Given the description of an element on the screen output the (x, y) to click on. 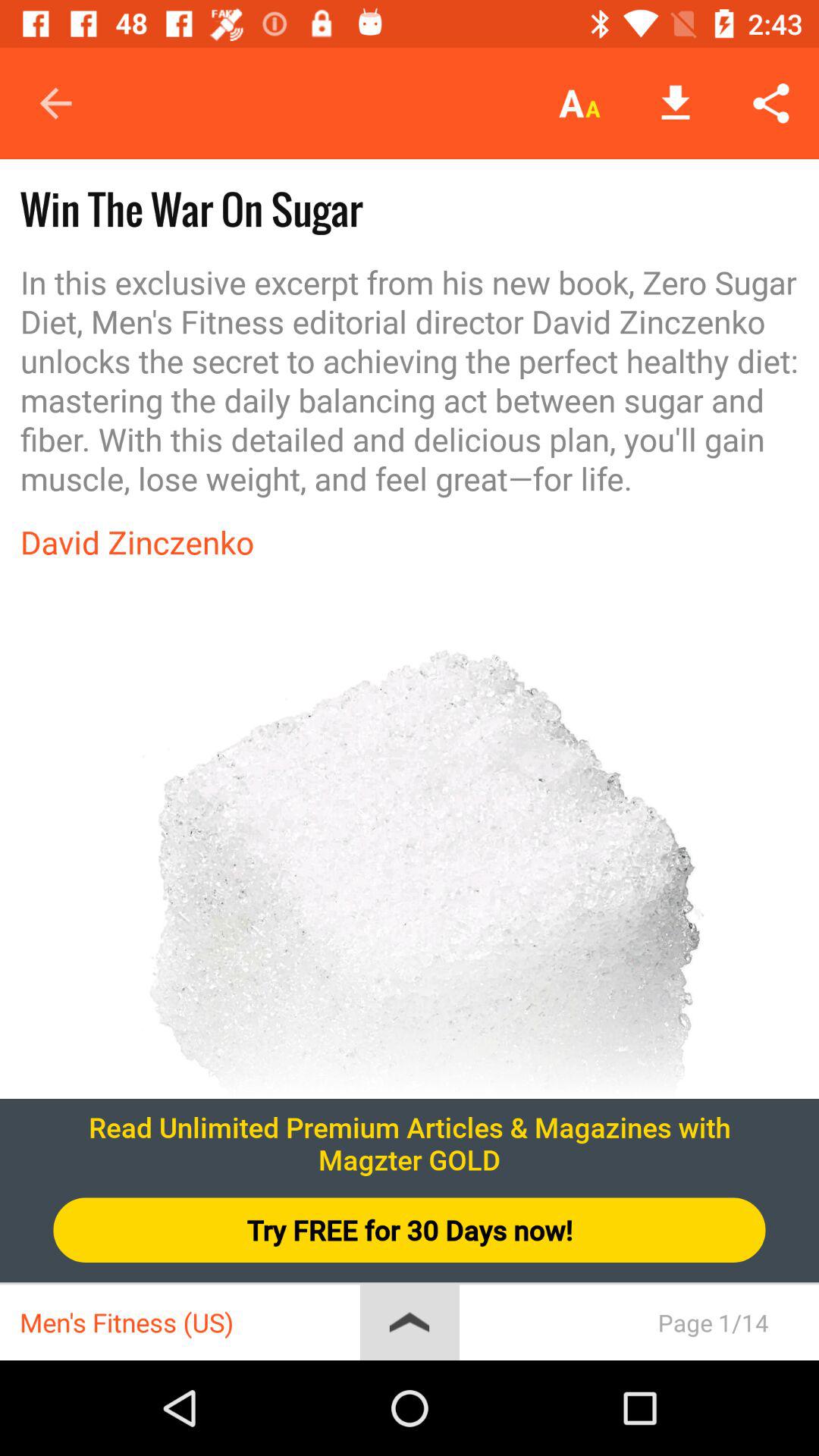
press try free for icon (409, 1229)
